Given the description of an element on the screen output the (x, y) to click on. 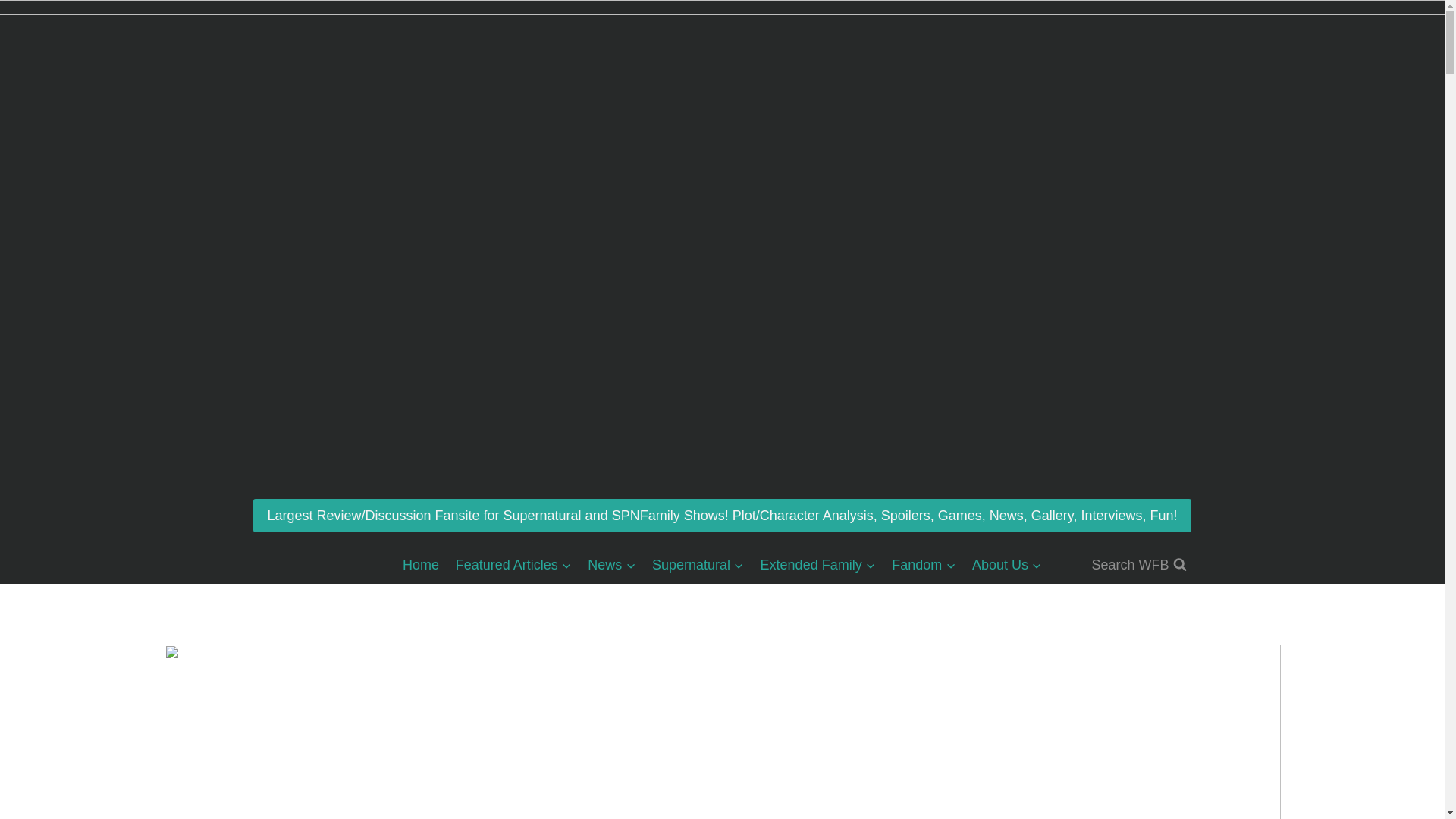
About Us (1006, 564)
Home (420, 564)
Supernatural (697, 564)
Fandom (923, 564)
Search WFB (1138, 565)
News (612, 564)
Featured Articles (512, 564)
Extended Family (817, 564)
